Given the description of an element on the screen output the (x, y) to click on. 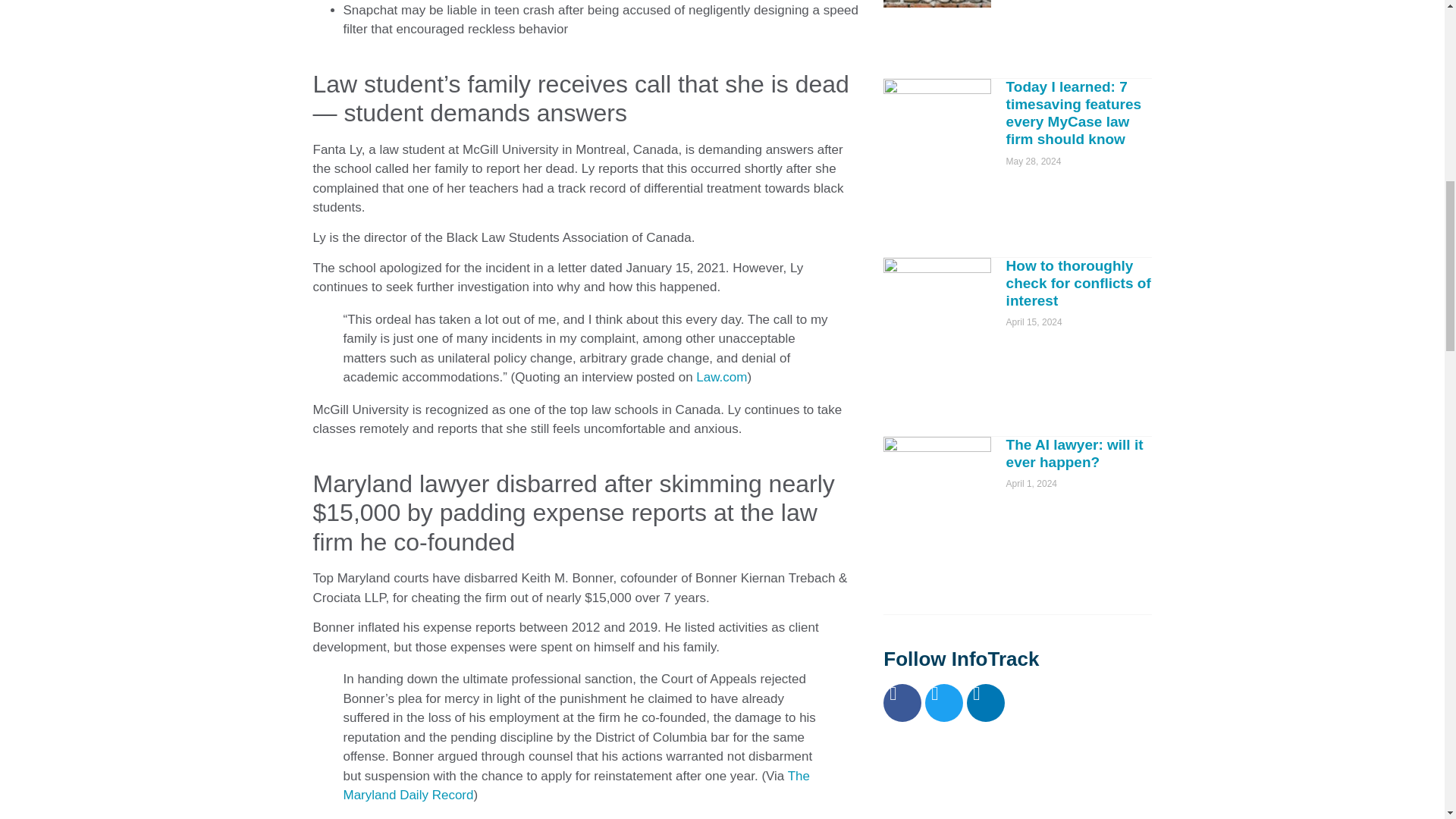
The Maryland Daily Record (575, 786)
Law.com (720, 377)
